Given the description of an element on the screen output the (x, y) to click on. 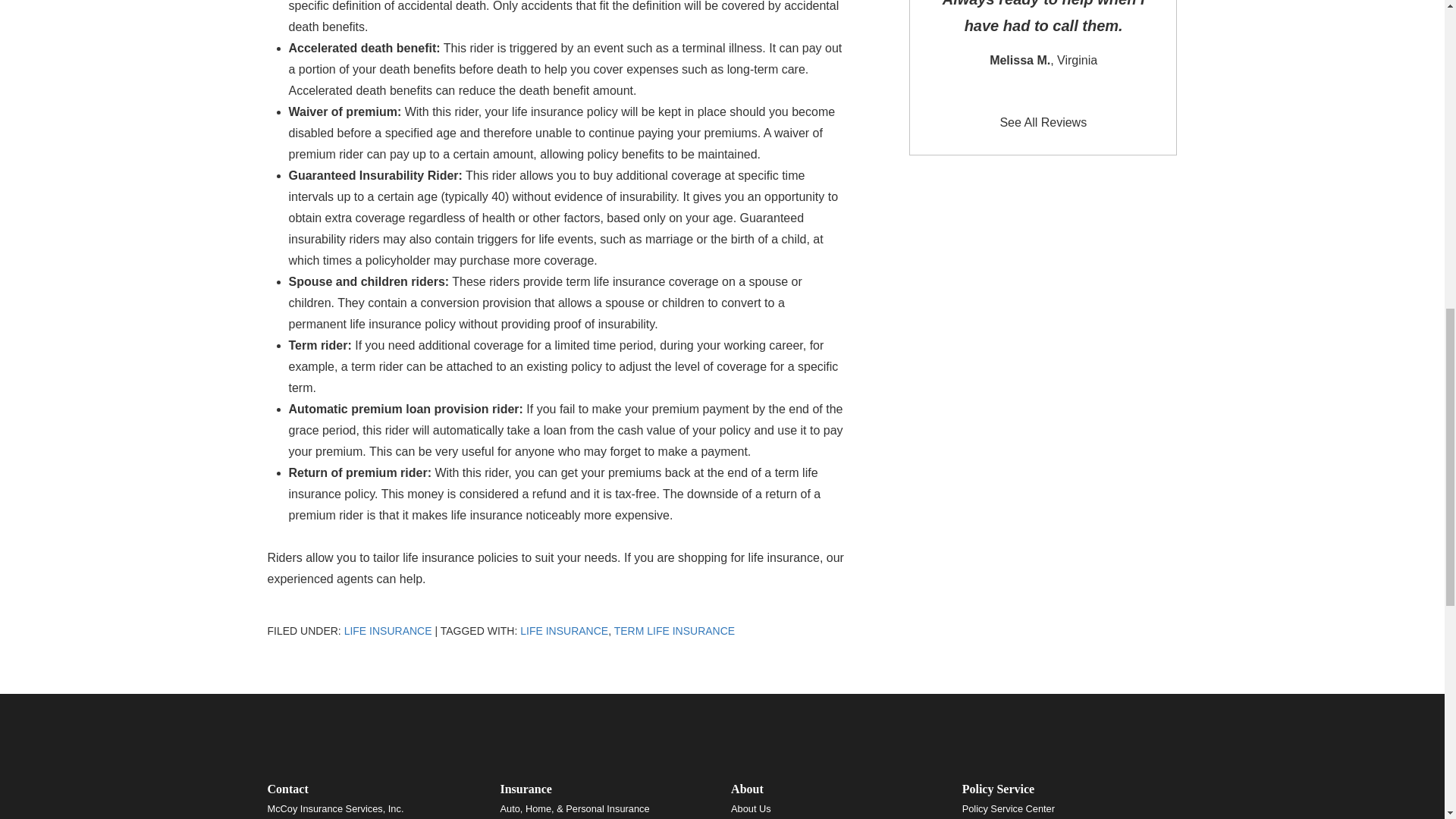
Term Life Insurance (674, 630)
Life Insurance (563, 630)
Life Insurance (387, 630)
